Given the description of an element on the screen output the (x, y) to click on. 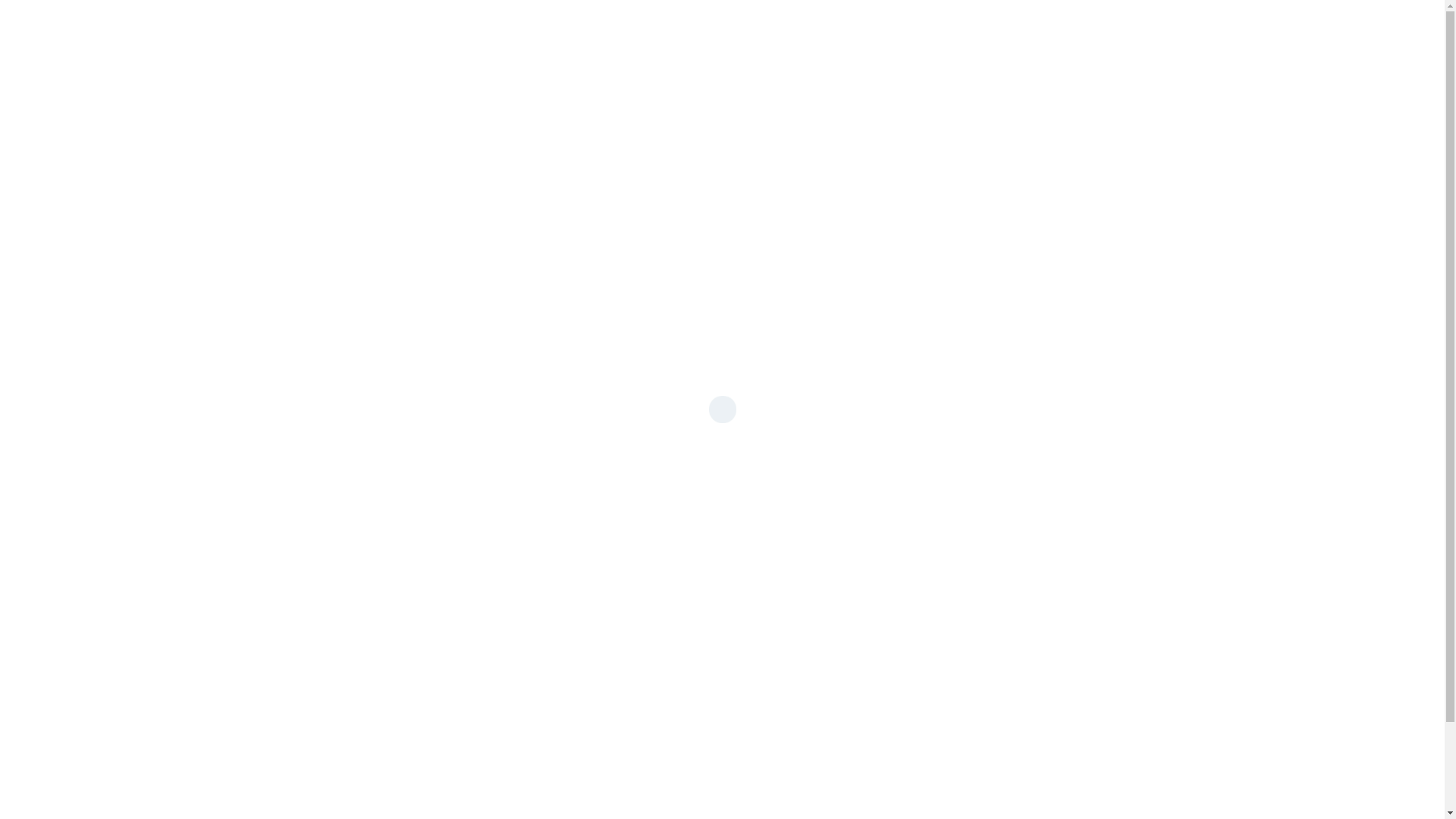
Privacy Policy Element type: text (484, 472)
Galerie Element type: text (1085, 26)
Terms of Service Element type: text (563, 472)
contact@3d-minerals.com Element type: text (890, 254)
English Element type: hover (1304, 25)
EN Element type: text (1315, 26)
Kontakt Element type: text (1173, 26)
Version allemande Element type: hover (179, 26)
Dienstleistungen Element type: text (968, 26)
SEND Element type: text (479, 436)
FR Element type: text (1257, 26)
Startseite Element type: text (682, 26)
Unsere Maschinen Element type: text (814, 26)
